Given the description of an element on the screen output the (x, y) to click on. 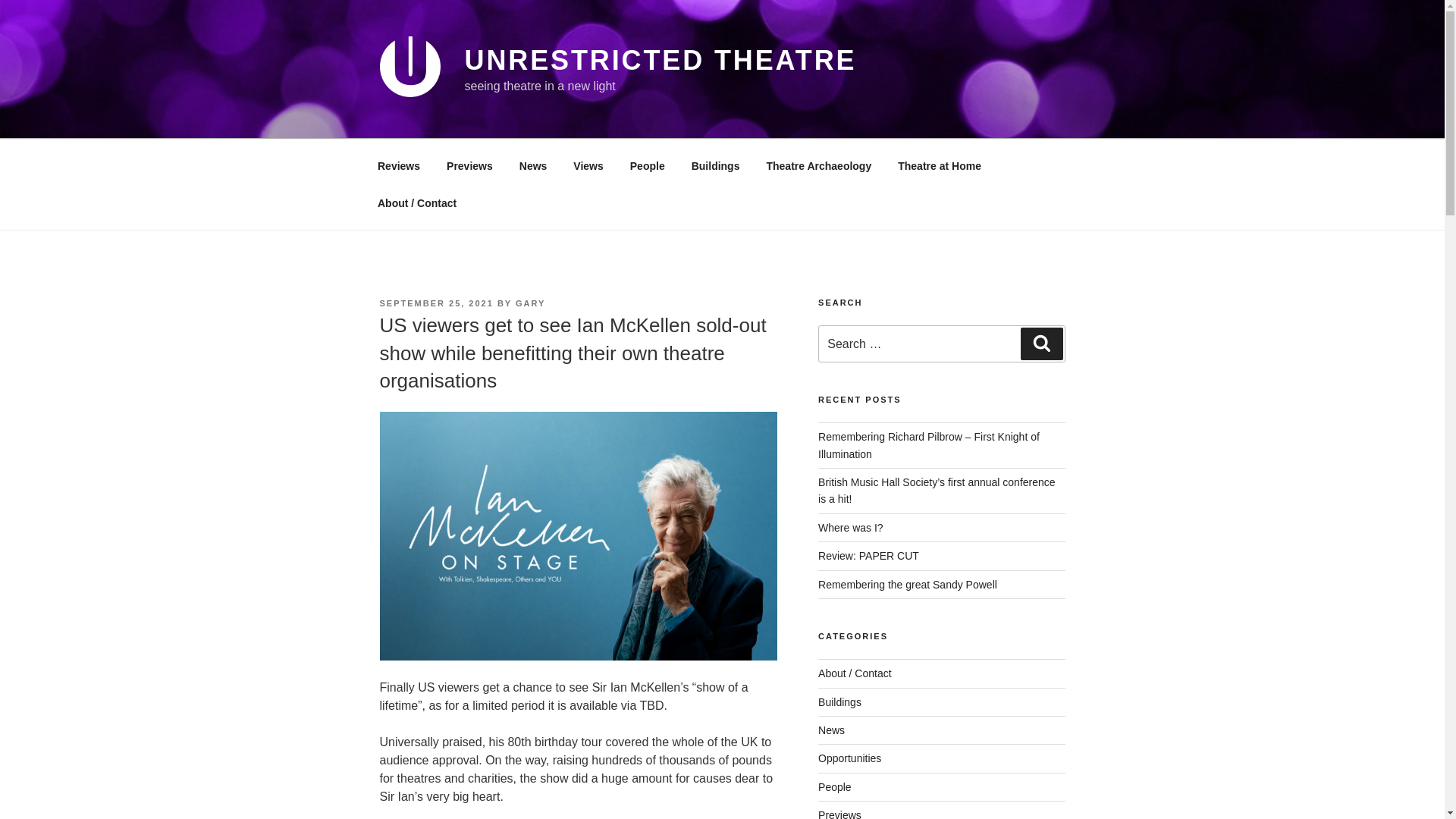
Views (587, 165)
People (646, 165)
News (831, 729)
SEPTEMBER 25, 2021 (435, 302)
Buildings (715, 165)
Opportunities (849, 758)
Buildings (839, 702)
News (532, 165)
Previews (469, 165)
GARY (529, 302)
Remembering the great Sandy Powell (907, 583)
Theatre at Home (939, 165)
Reviews (398, 165)
Search (1041, 343)
People (834, 787)
